Given the description of an element on the screen output the (x, y) to click on. 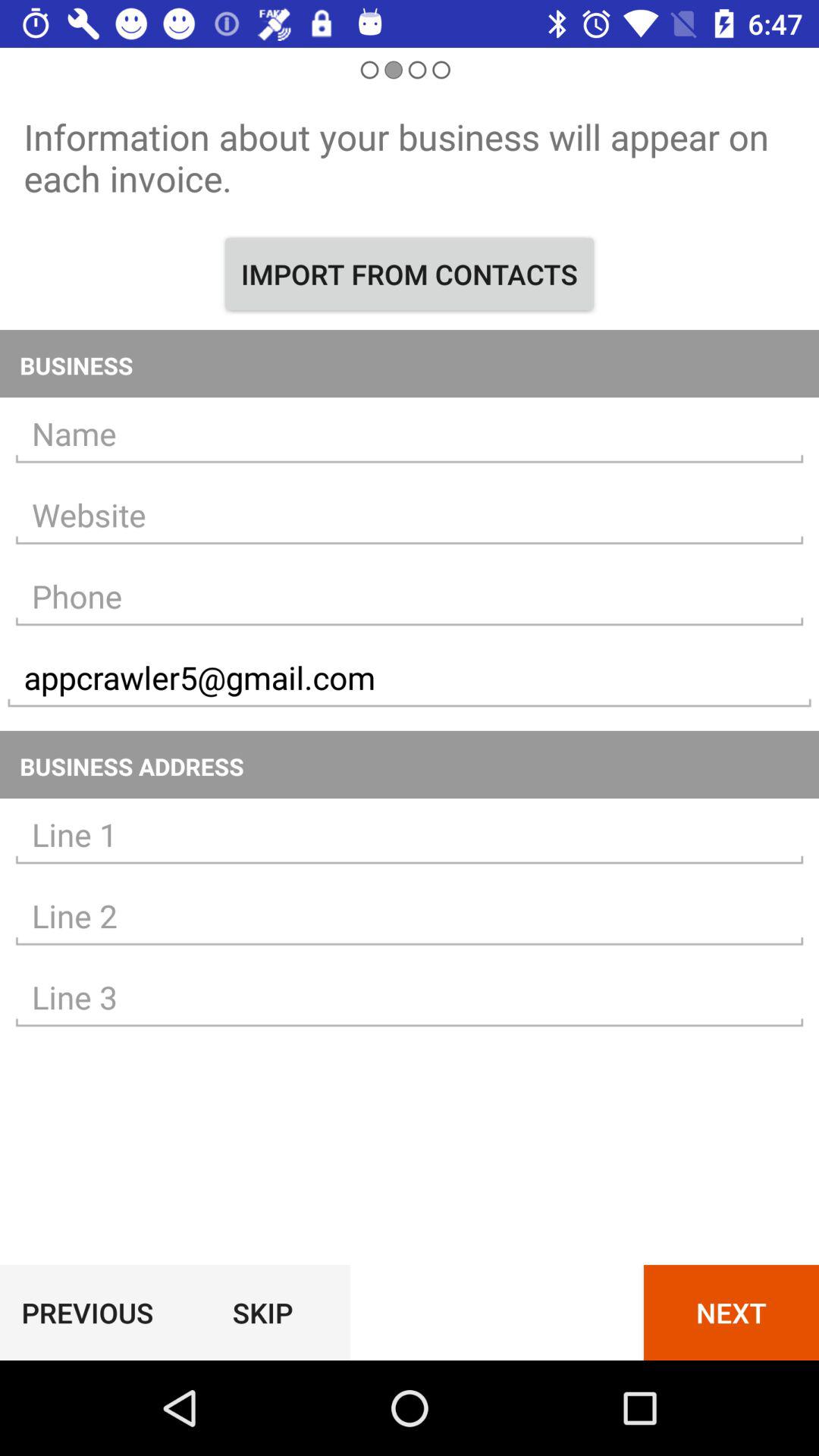
tap the appcrawler5@gmail.com item (409, 677)
